Given the description of an element on the screen output the (x, y) to click on. 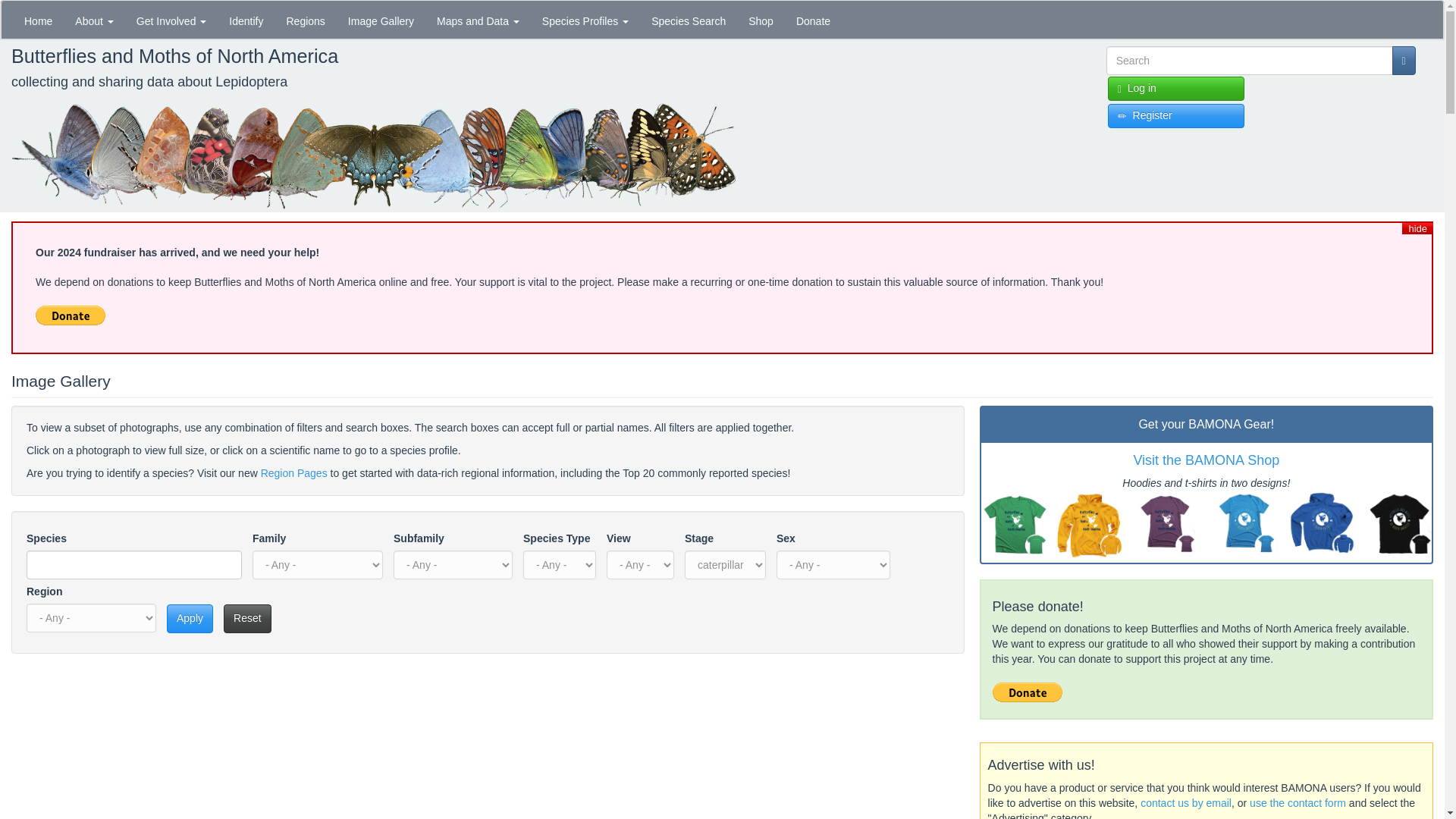
Identify (245, 19)
Maps and Data (478, 19)
  Log in (1176, 88)
Home (38, 19)
Species Search (688, 19)
Species Profiles (585, 19)
About (93, 19)
Get Involved (171, 19)
Image Gallery (380, 19)
Search (1115, 81)
Shop (760, 19)
Donate (812, 19)
  Register (1176, 115)
Regions (305, 19)
